Given the description of an element on the screen output the (x, y) to click on. 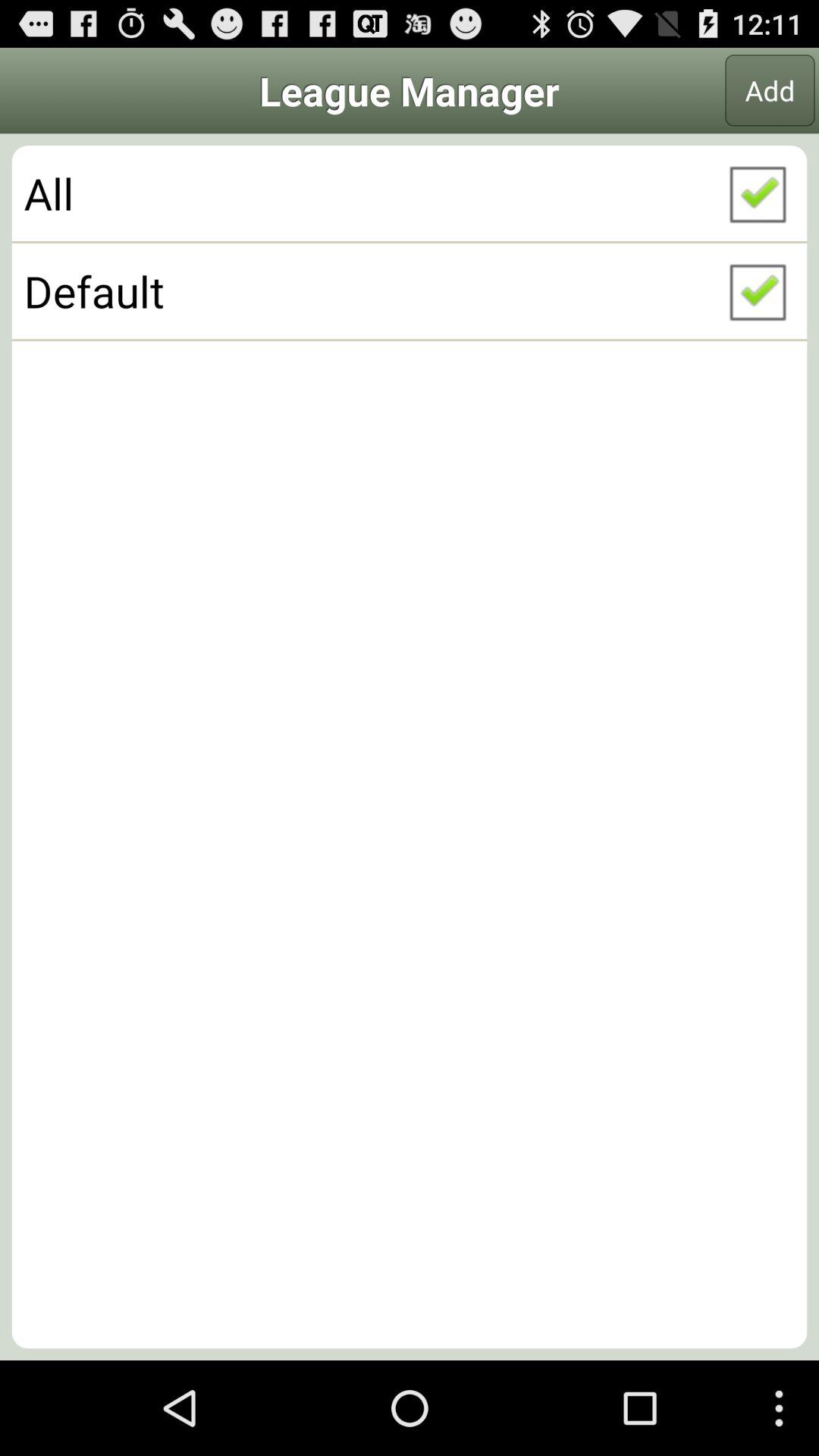
click item below the all checkbox (409, 290)
